Given the description of an element on the screen output the (x, y) to click on. 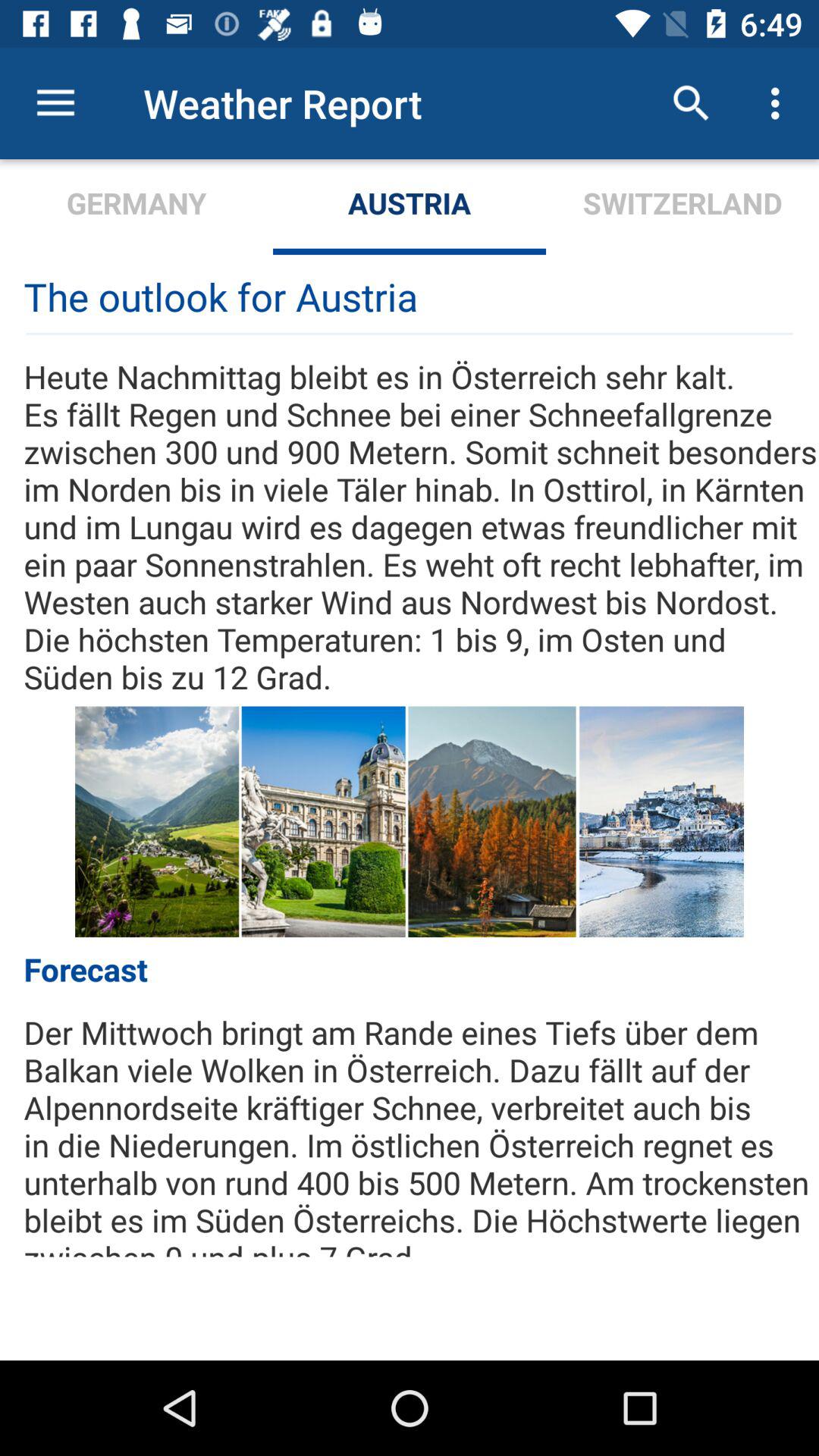
select icon to the left of the austria icon (136, 206)
